Given the description of an element on the screen output the (x, y) to click on. 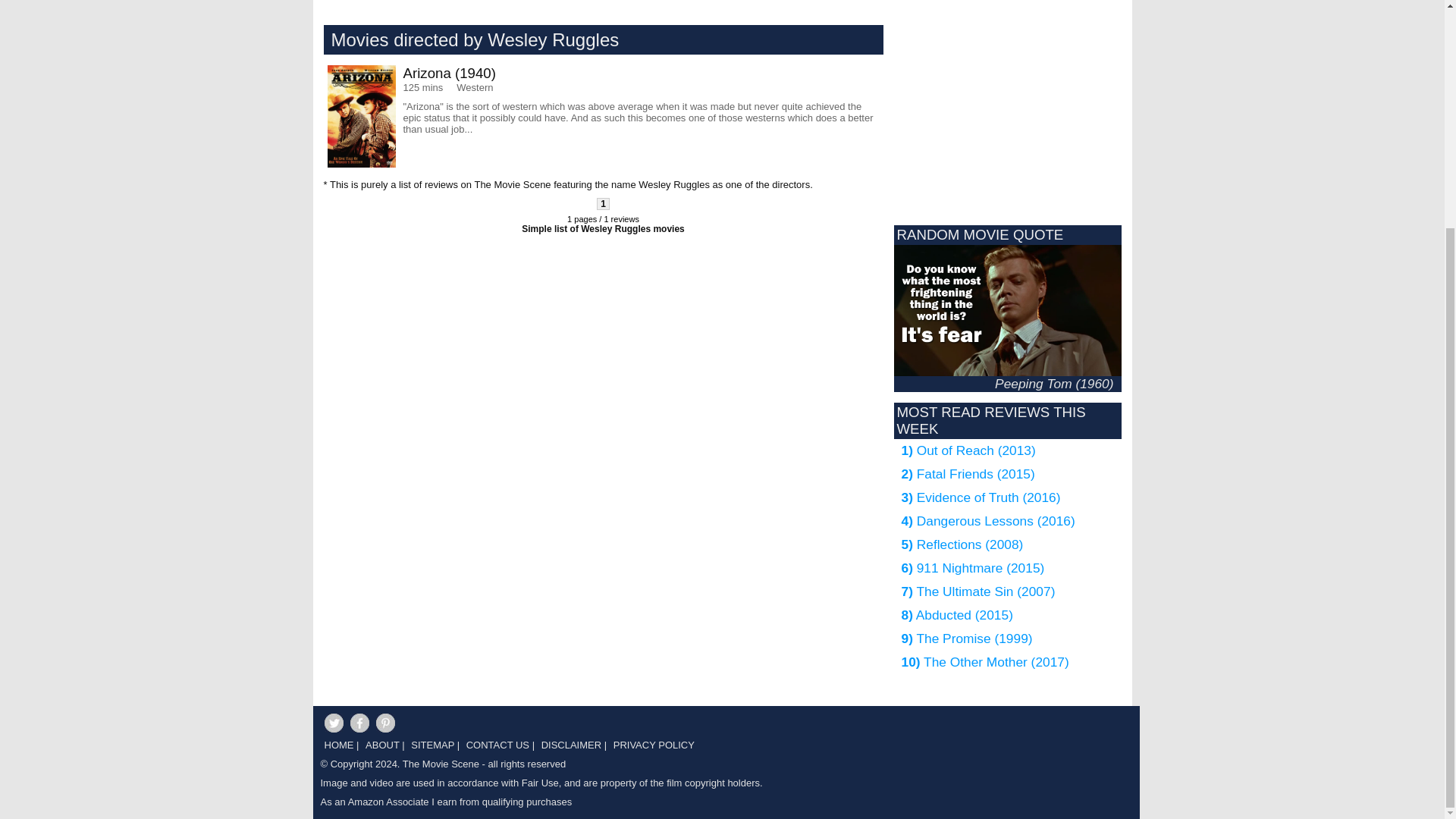
1 (603, 203)
Advertisement (462, 358)
HOME (336, 748)
Advertisement (722, 7)
SITEMAP (430, 748)
ABOUT (379, 748)
DISCLAIMER (569, 748)
CONTACT US (496, 748)
1 (603, 203)
Simple List of movies directed by Wesley Ruggles (602, 228)
Click here for review of Arizona (603, 116)
PRIVACY POLICY (652, 748)
Simple list of Wesley Ruggles movies (602, 228)
